Given the description of an element on the screen output the (x, y) to click on. 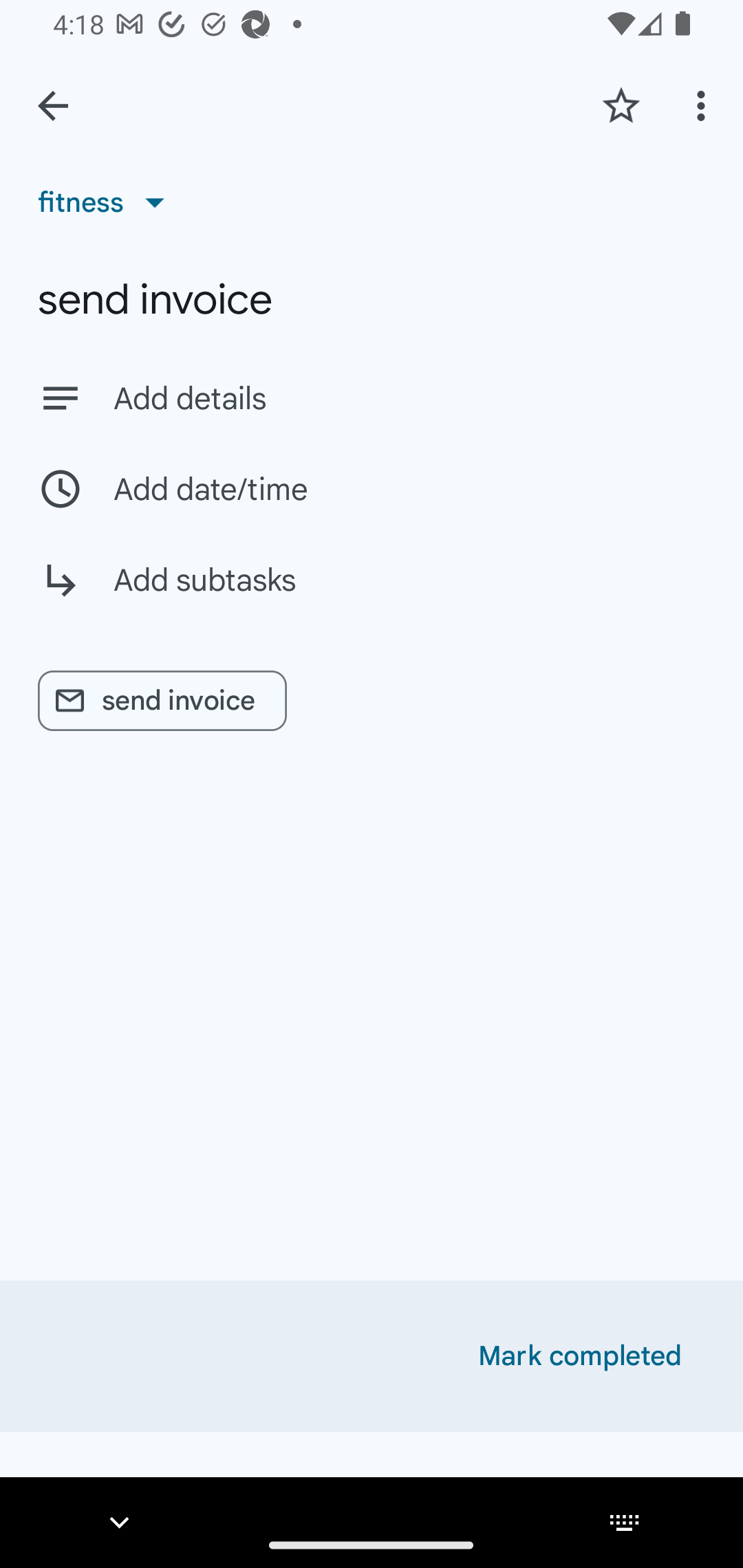
Back (53, 105)
Add star (620, 105)
More options (704, 105)
fitness List, fitness selected, 1 of 14 (107, 202)
send invoice (371, 299)
Add details (371, 397)
Add details (409, 397)
Add date/time (371, 488)
Add subtasks (371, 594)
send invoice Related link (161, 700)
Mark completed (580, 1355)
